Given the description of an element on the screen output the (x, y) to click on. 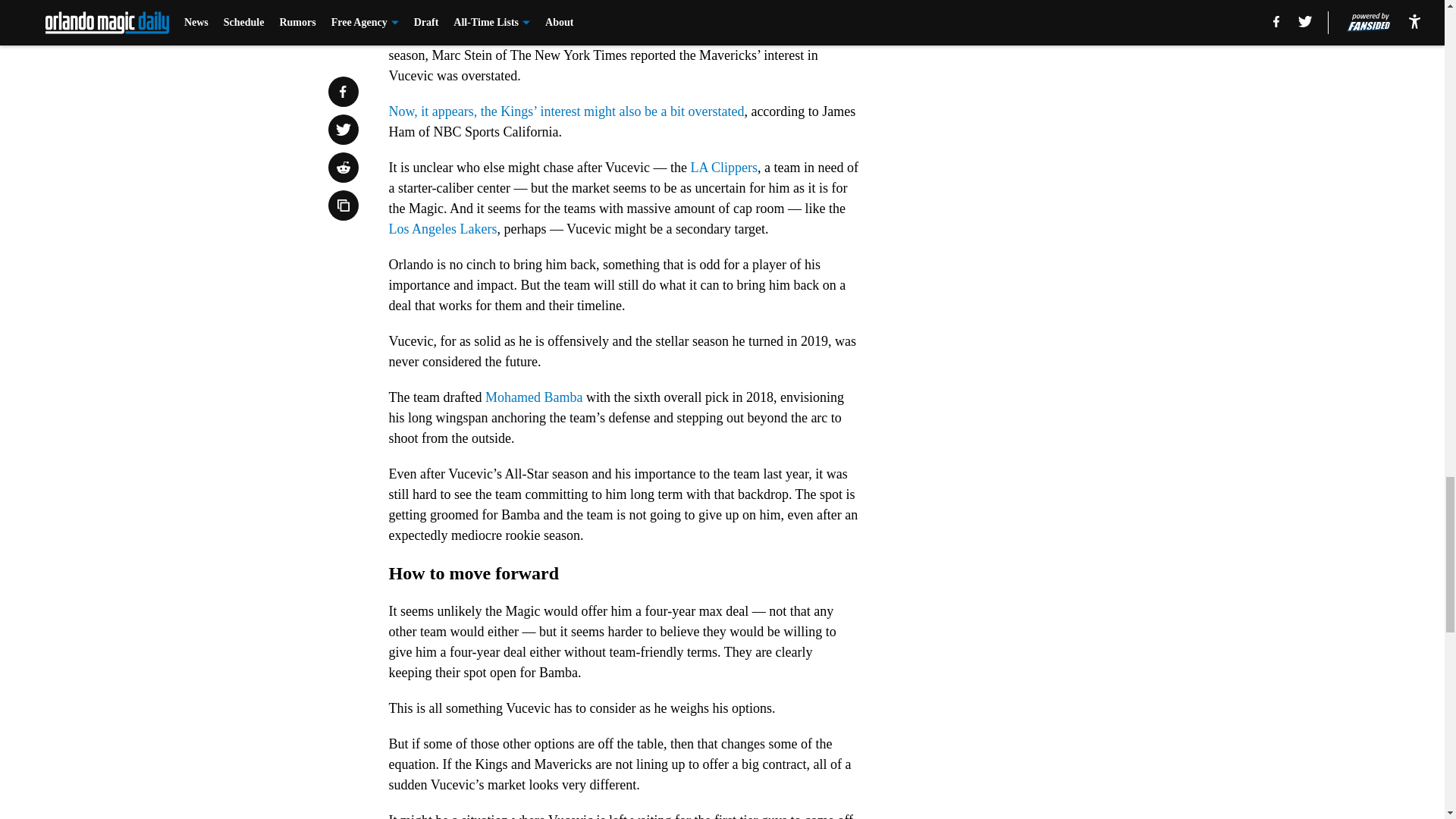
LA Clippers (723, 167)
Dallas Mavericks (724, 14)
Sacramento Kings (598, 14)
